Given the description of an element on the screen output the (x, y) to click on. 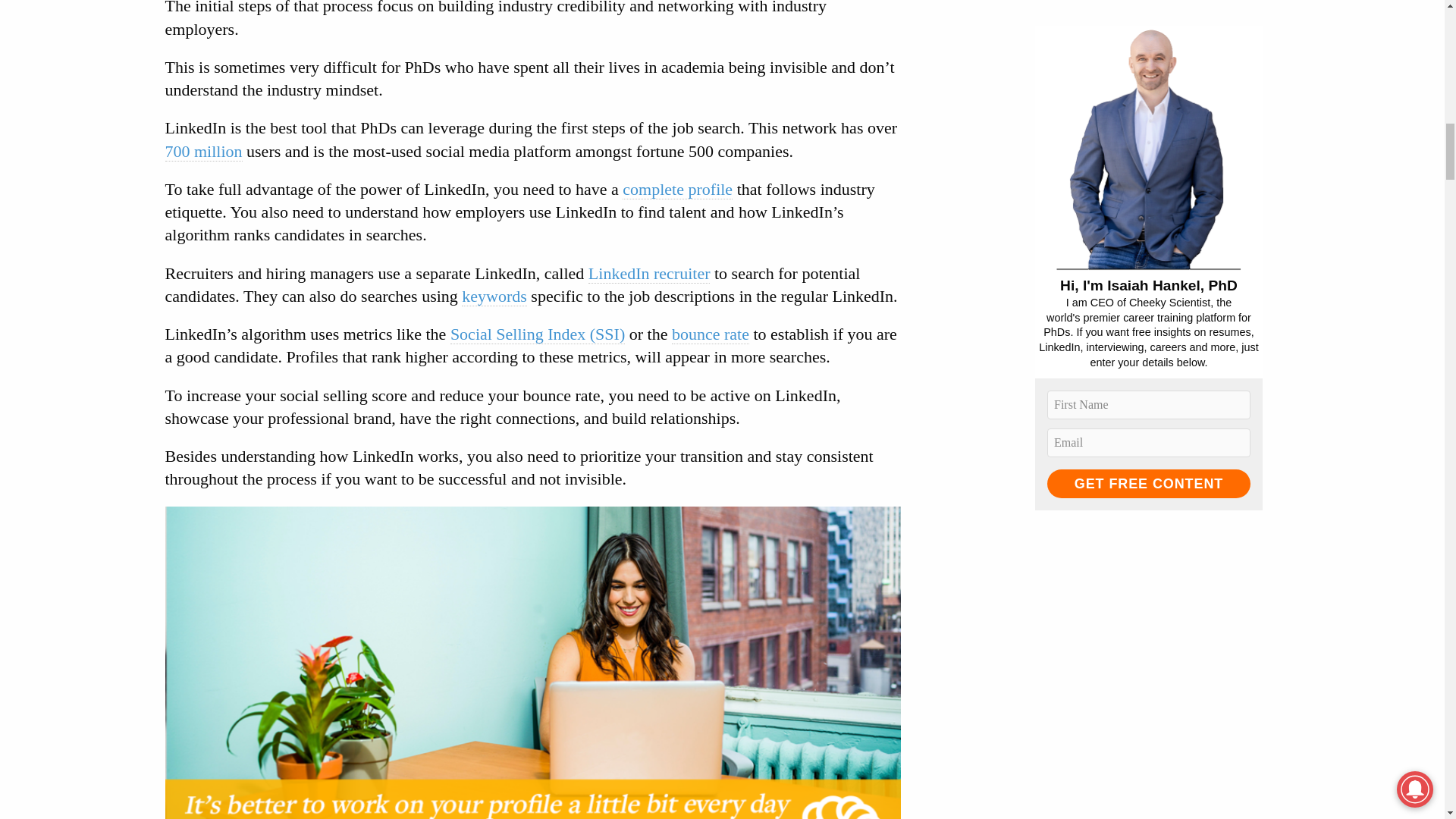
complete profile (677, 189)
bounce rate (710, 333)
700 million (204, 150)
LinkedIn recruiter (649, 273)
keywords (494, 296)
